Given the description of an element on the screen output the (x, y) to click on. 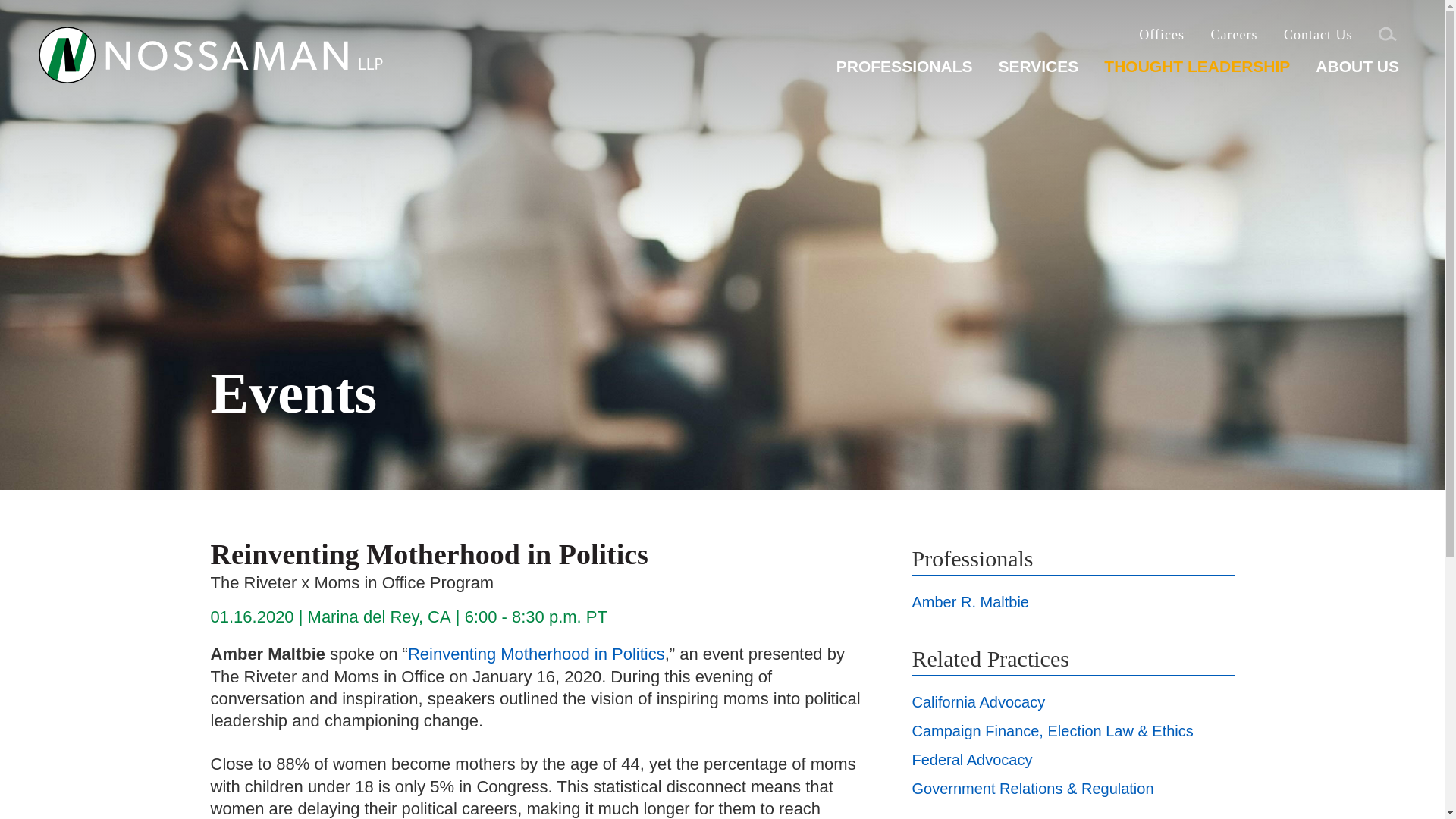
SERVICES (1037, 72)
Amber R. Maltbie (970, 601)
PROFESSIONALS (904, 72)
California Advocacy (978, 701)
Reinventing Motherhood in Politics (536, 653)
Federal Advocacy (971, 759)
